Given the description of an element on the screen output the (x, y) to click on. 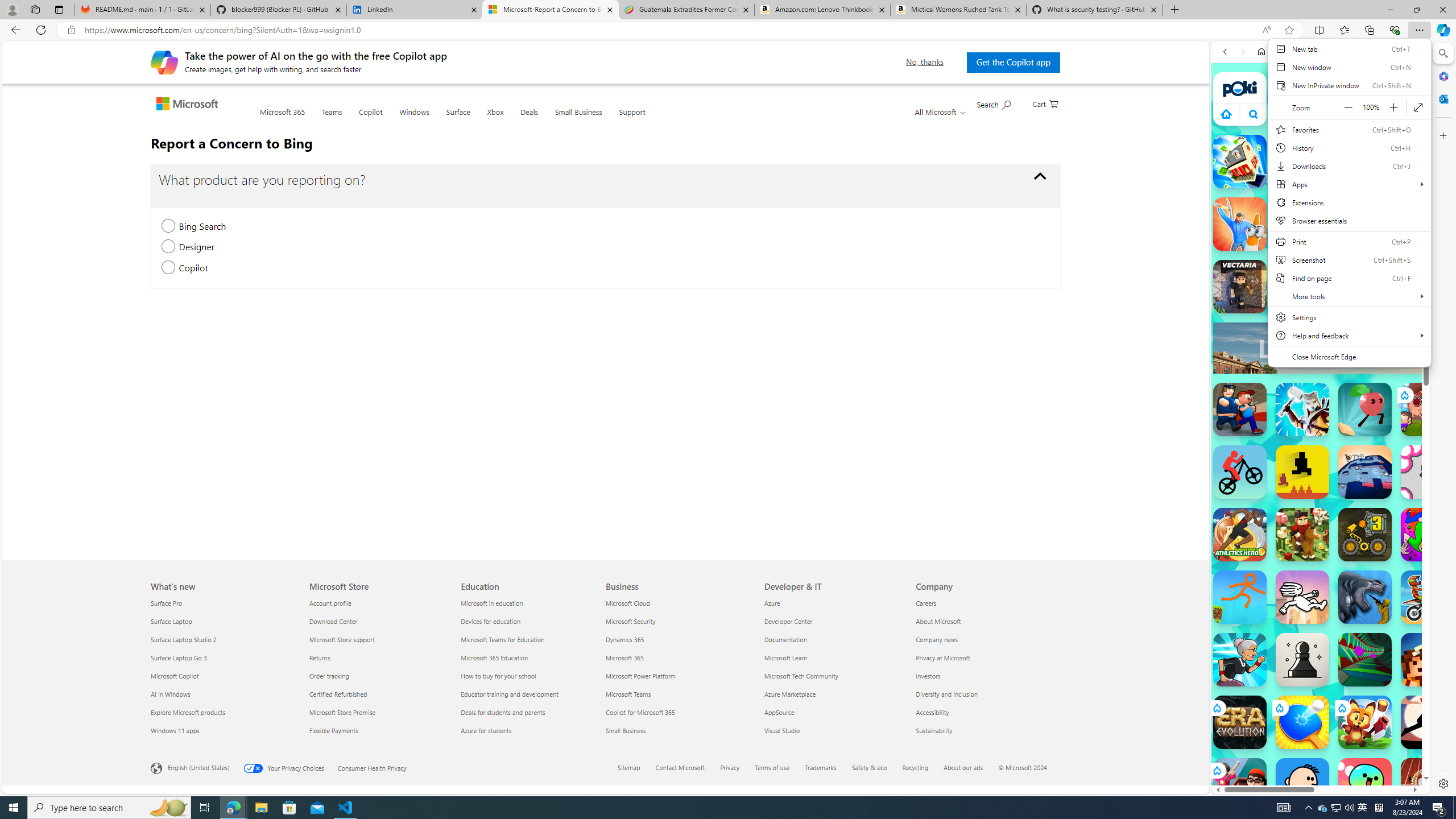
Big Tower Tiny Square (1364, 471)
Zoom out (Ctrl+Minus key) (1347, 107)
BoxRob 3 BoxRob 3 (1364, 534)
Microsoft Tech Community (833, 675)
Windows (413, 118)
Stickman Parkour Skyland Stickman Parkour Skyland (1239, 597)
Account profile Microsoft Store (329, 602)
Surface Laptop Go 3 What's new (178, 656)
Microsoft Power Platform Business (640, 675)
Apple Knight: Farmers Market (1302, 534)
Dreadhead Parkour (1302, 597)
